Given the description of an element on the screen output the (x, y) to click on. 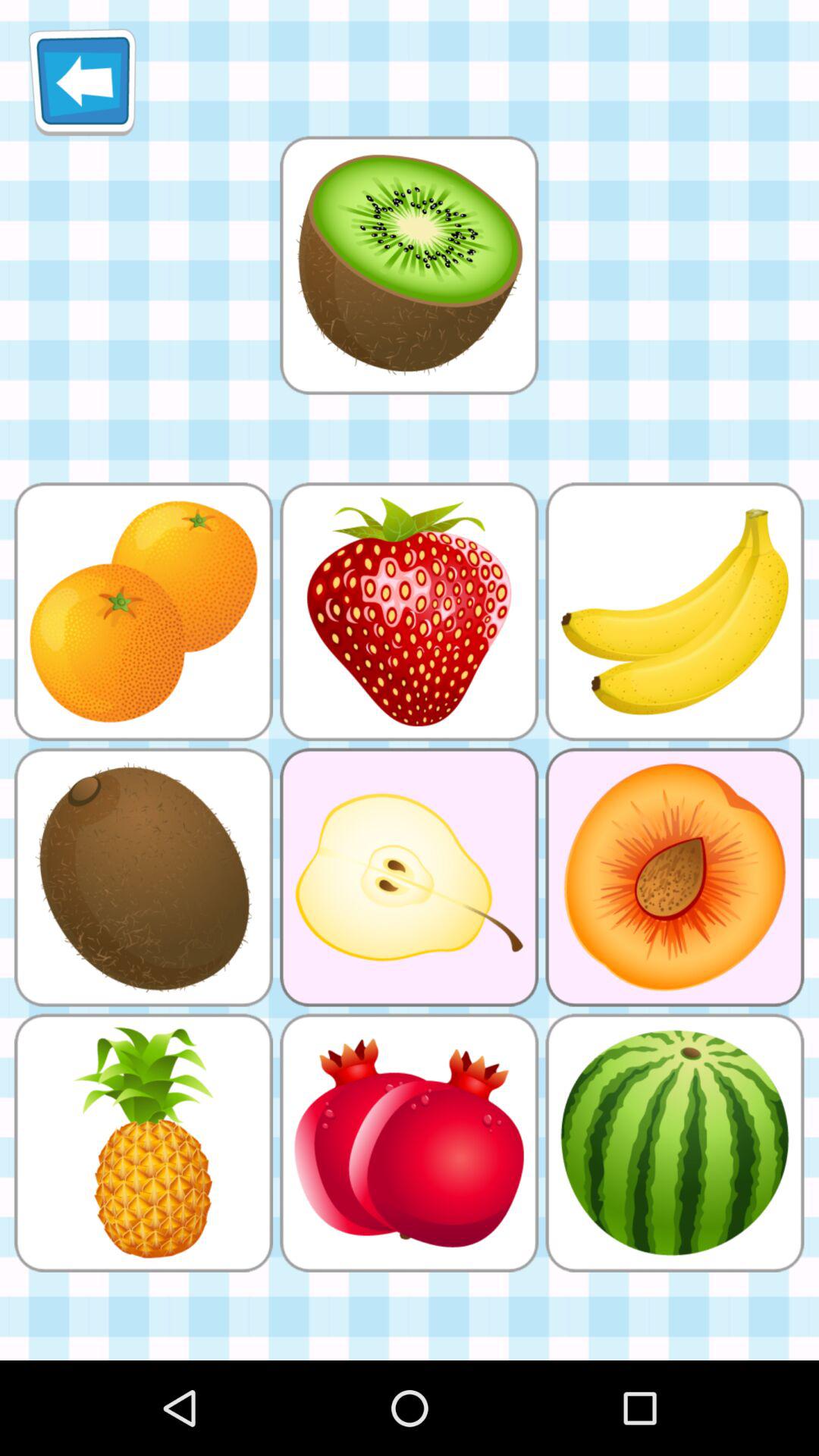
kiwi fruit (409, 265)
